Given the description of an element on the screen output the (x, y) to click on. 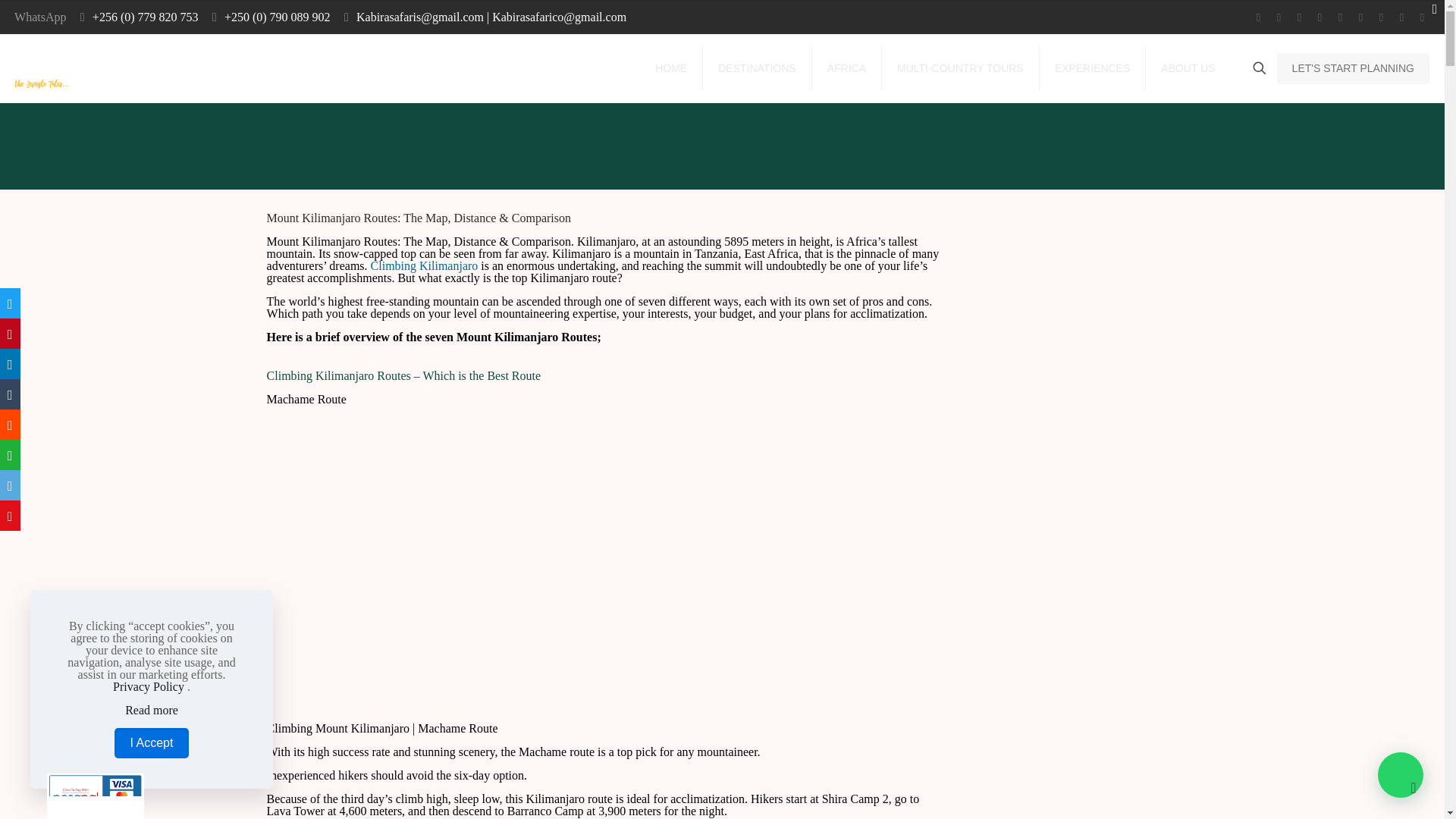
HOME (671, 68)
YouTube (1319, 17)
Vimeo (1299, 17)
LinkedIn (1340, 17)
DESTINATIONS (756, 68)
Pinterest (1360, 17)
TripAdvisor (1421, 17)
Tumblr (1401, 17)
Instagram (1381, 17)
